Given the description of an element on the screen output the (x, y) to click on. 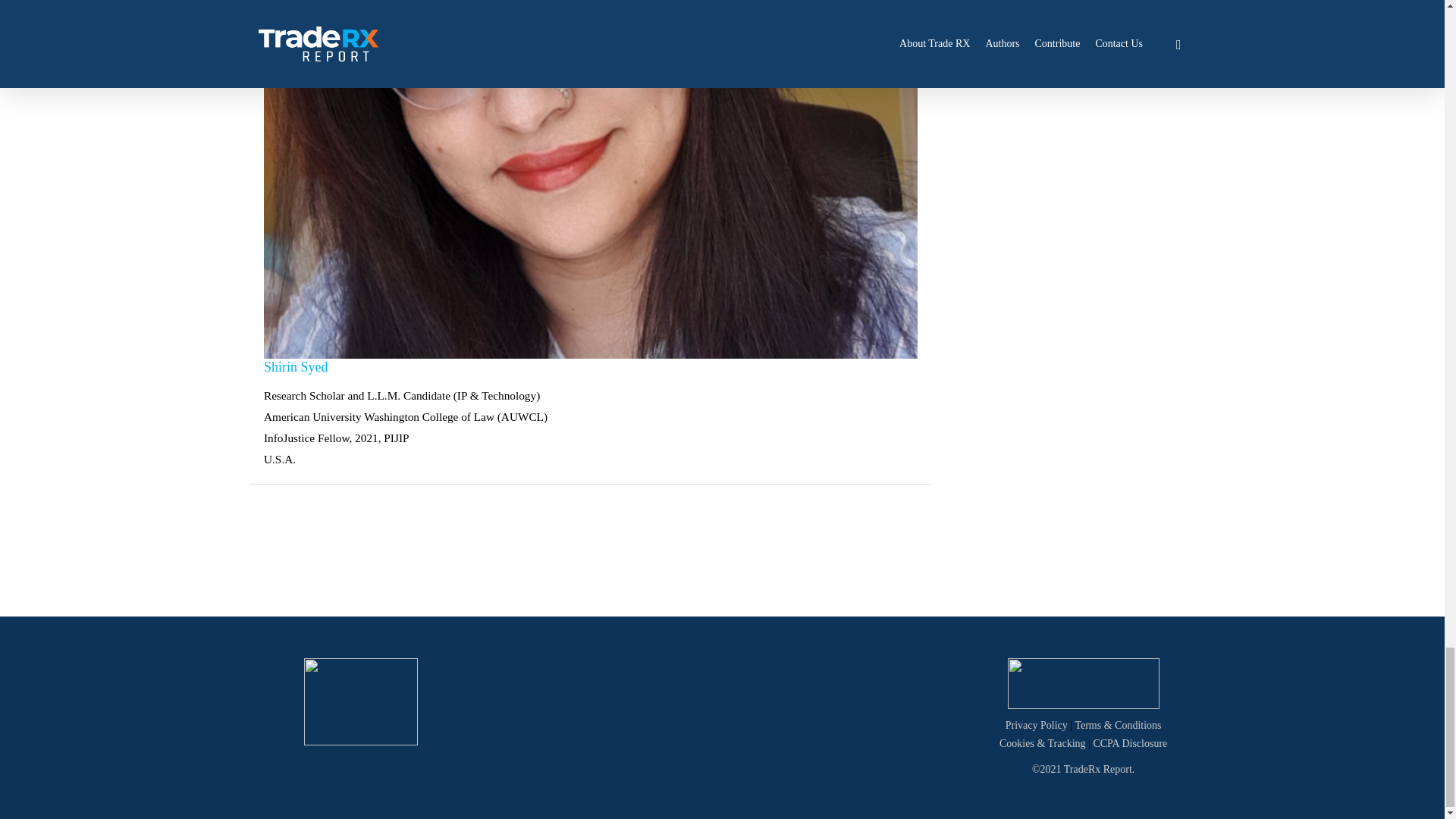
Shirin Syed (296, 366)
